Given the description of an element on the screen output the (x, y) to click on. 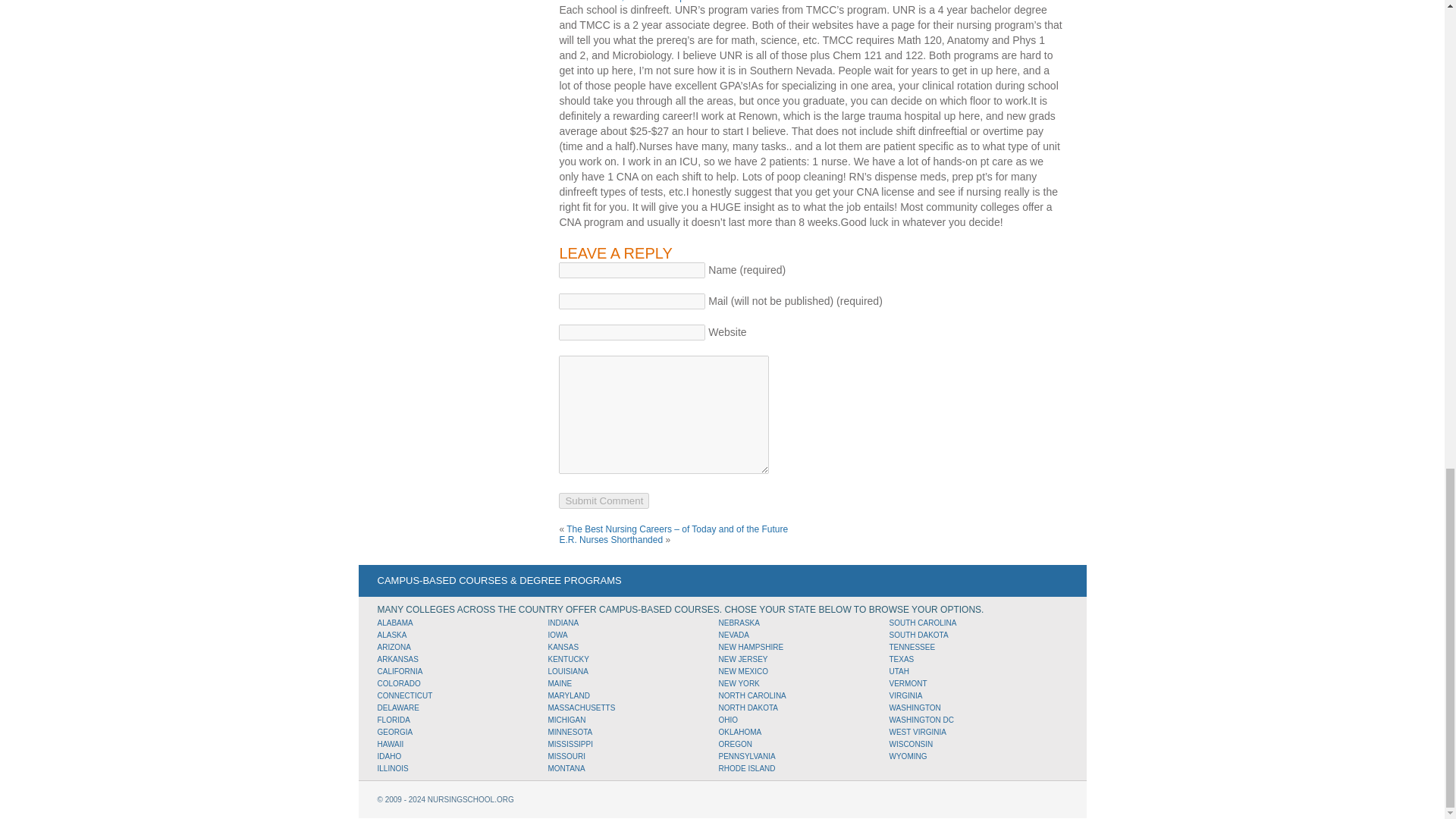
December 24th, 2015 at 8:35 pm (625, 1)
Submit Comment (604, 500)
E.R. Nurses Shorthanded (610, 539)
Submit Comment (604, 500)
